Given the description of an element on the screen output the (x, y) to click on. 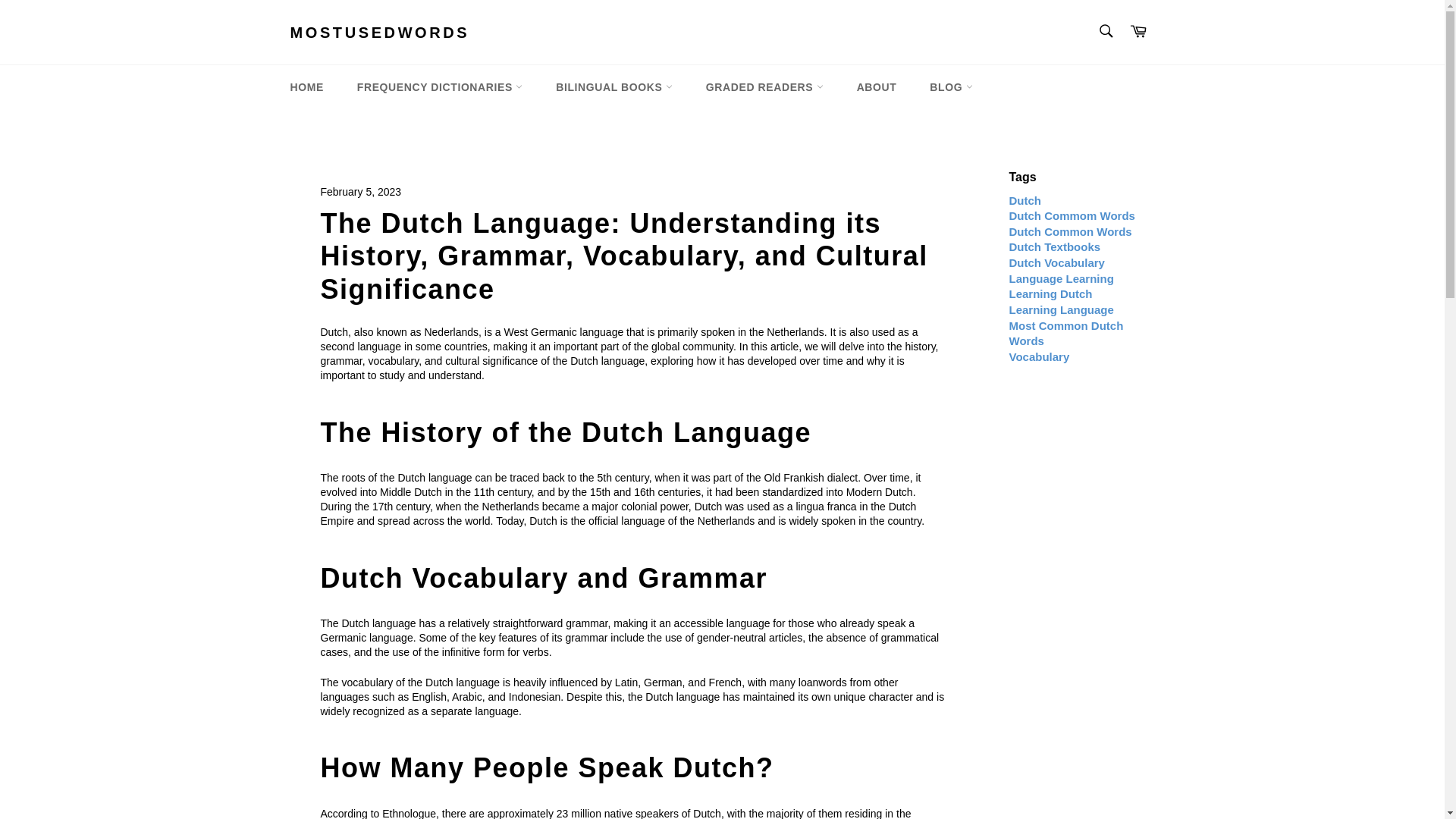
Show articles tagged Most Common Dutch Words (1065, 333)
Show articles tagged Learning Language (1061, 309)
Show articles tagged Dutch (1025, 200)
Show articles tagged Language Learning (1061, 278)
Show articles tagged Dutch Commom Words (1071, 215)
Show articles tagged Dutch Vocabulary (1056, 262)
Show articles tagged Learning Dutch (1050, 293)
Show articles tagged Dutch Textbooks (1054, 246)
Show articles tagged Dutch Common Words (1070, 231)
Show articles tagged Vocabulary (1038, 356)
